Given the description of an element on the screen output the (x, y) to click on. 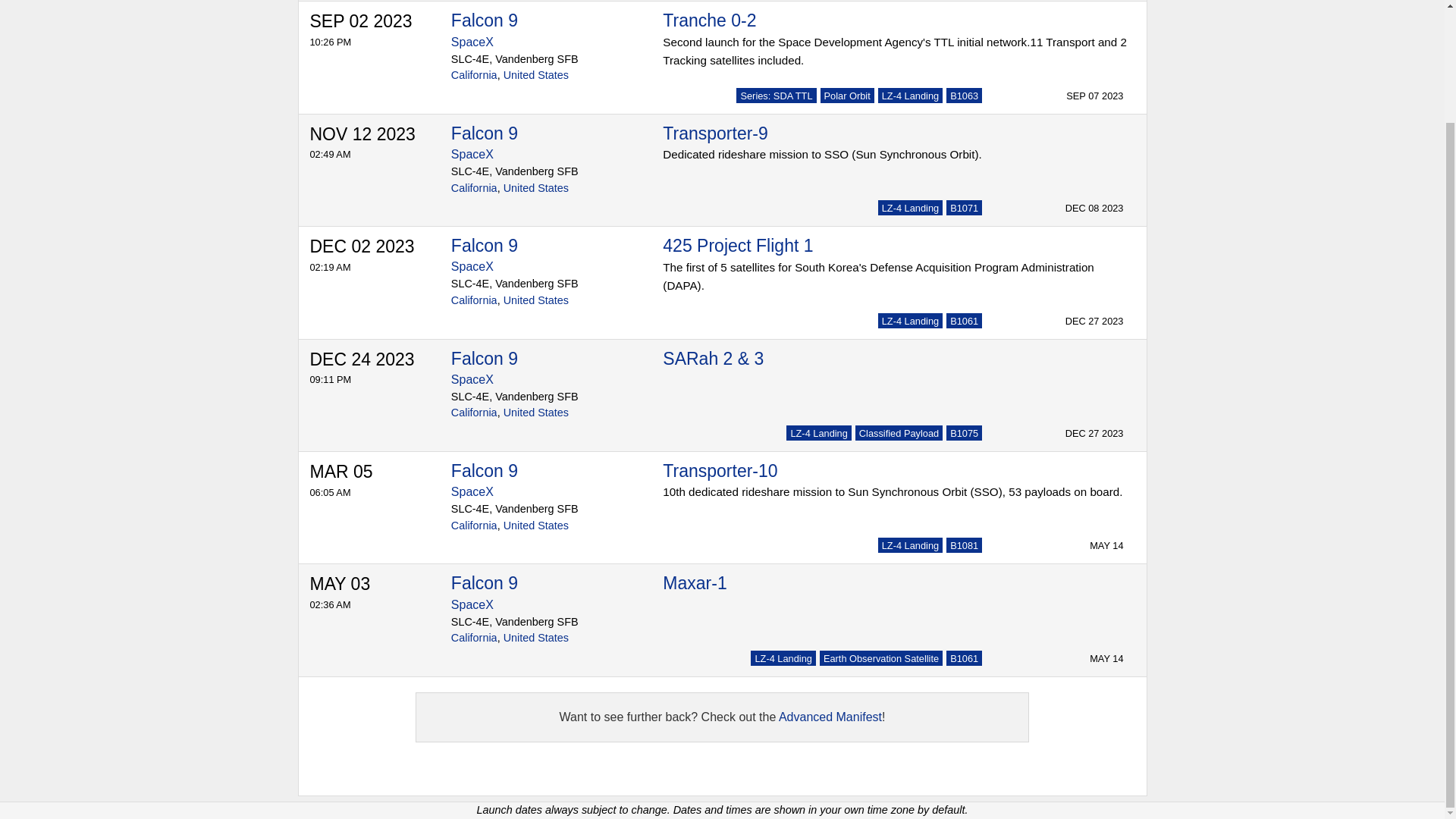
SpaceX (472, 266)
California (474, 187)
Falcon 9 (484, 133)
SpaceX (472, 42)
2023-12-01T18:19Z (368, 253)
California (474, 74)
2023-11-11T18:49Z (368, 141)
LZ-4 Landing (910, 95)
Falcon 9 (484, 20)
2023-12-08T00:55:29Z (1094, 207)
2023-09-02T14:26Z (368, 28)
B1071 (964, 207)
B1063 (964, 95)
Transporter-9 (714, 133)
